Given the description of an element on the screen output the (x, y) to click on. 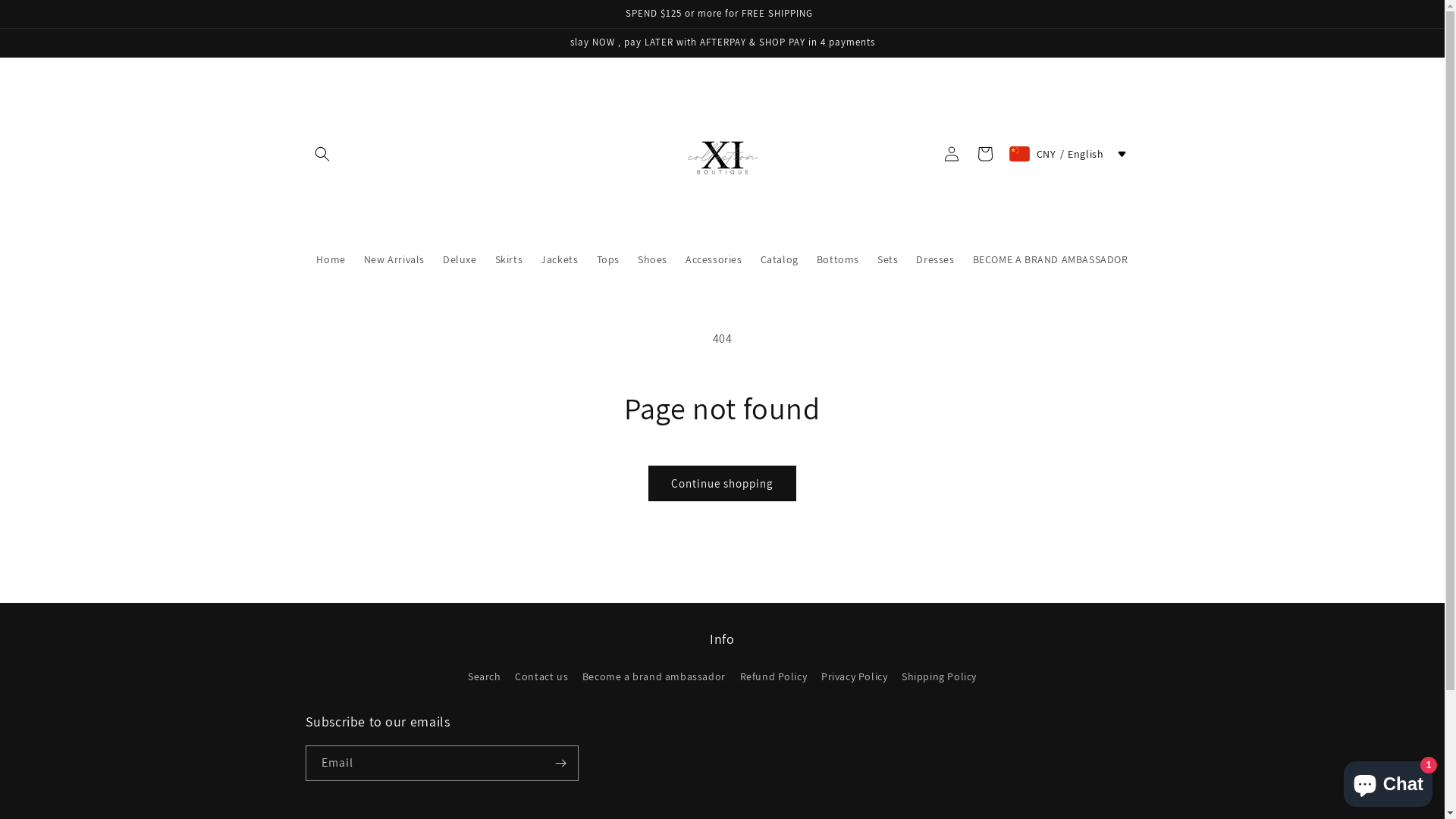
Become a brand ambassador Element type: text (653, 676)
Catalog Element type: text (779, 259)
New Arrivals Element type: text (393, 259)
Skirts Element type: text (509, 259)
Tops Element type: text (606, 259)
Shoes Element type: text (652, 259)
Sets Element type: text (887, 259)
Shopify online store chat Element type: hover (1388, 780)
Cart Element type: text (984, 153)
Accessories Element type: text (713, 259)
Home Element type: text (330, 259)
Privacy Policy Element type: text (854, 676)
Contact us Element type: text (540, 676)
Jackets Element type: text (558, 259)
Search Element type: text (484, 678)
Dresses Element type: text (934, 259)
Refund Policy Element type: text (773, 676)
Shipping Policy Element type: text (938, 676)
Bottoms Element type: text (837, 259)
Deluxe Element type: text (459, 259)
Log in Element type: text (951, 153)
Continue shopping Element type: text (722, 483)
BECOME A BRAND AMBASSADOR Element type: text (1050, 259)
